Given the description of an element on the screen output the (x, y) to click on. 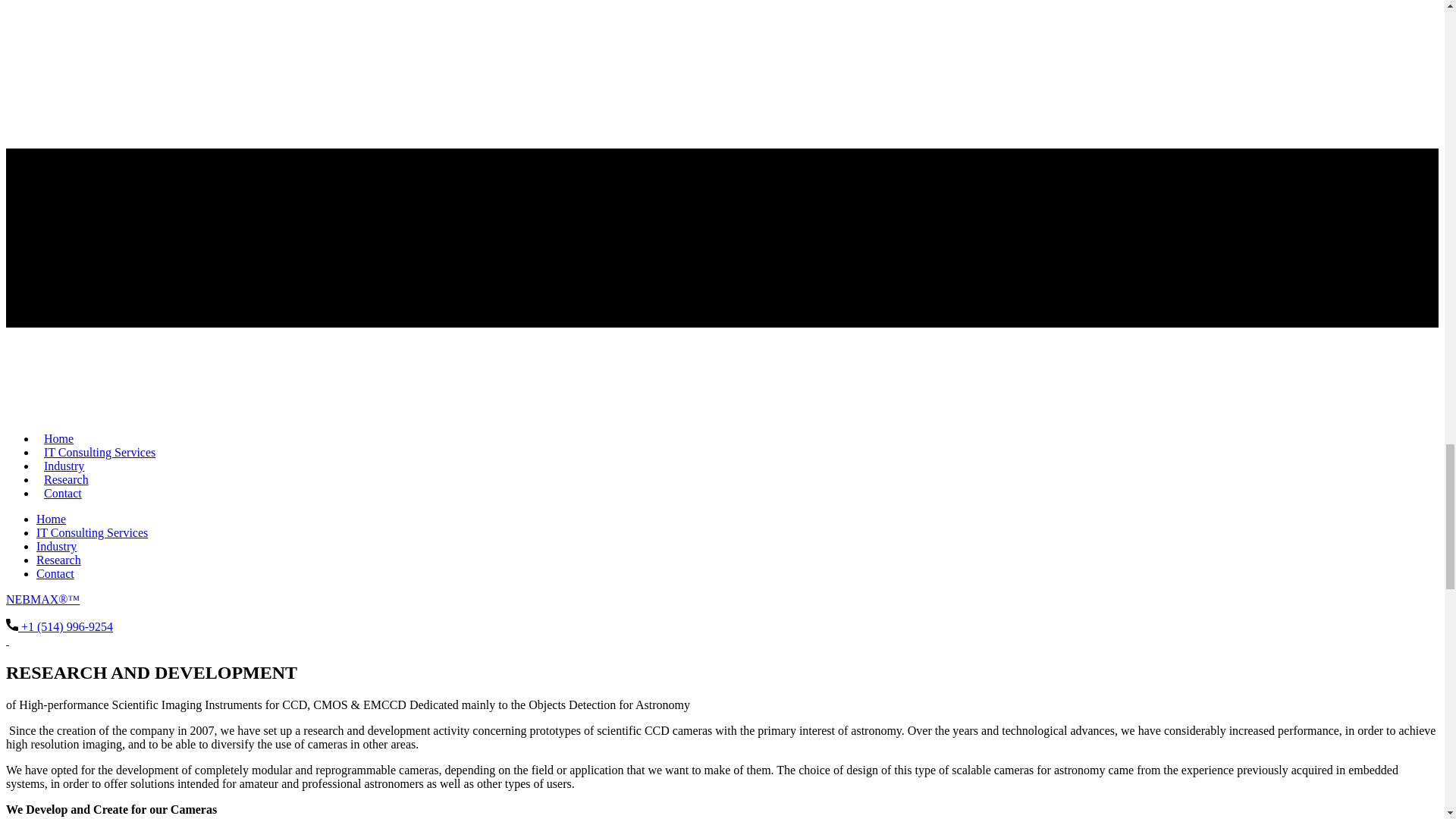
Research (66, 479)
Contact (61, 492)
IT Consulting Services (99, 452)
Research (58, 559)
Industry (63, 465)
Industry (56, 545)
Home (50, 518)
IT Consulting Services (92, 532)
Contact (55, 573)
Home (58, 438)
